Given the description of an element on the screen output the (x, y) to click on. 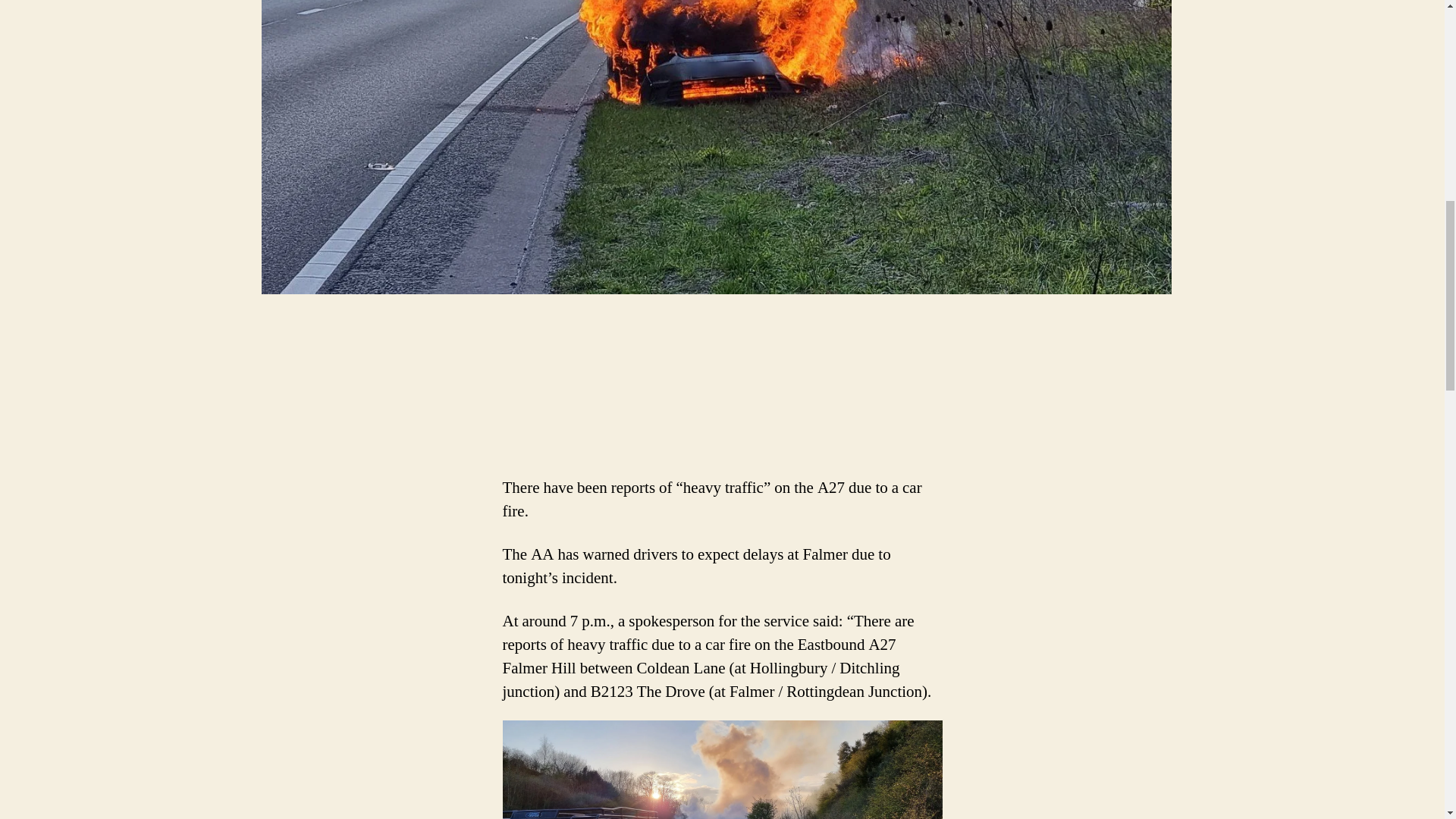
Advertisement (219, 415)
